Given the description of an element on the screen output the (x, y) to click on. 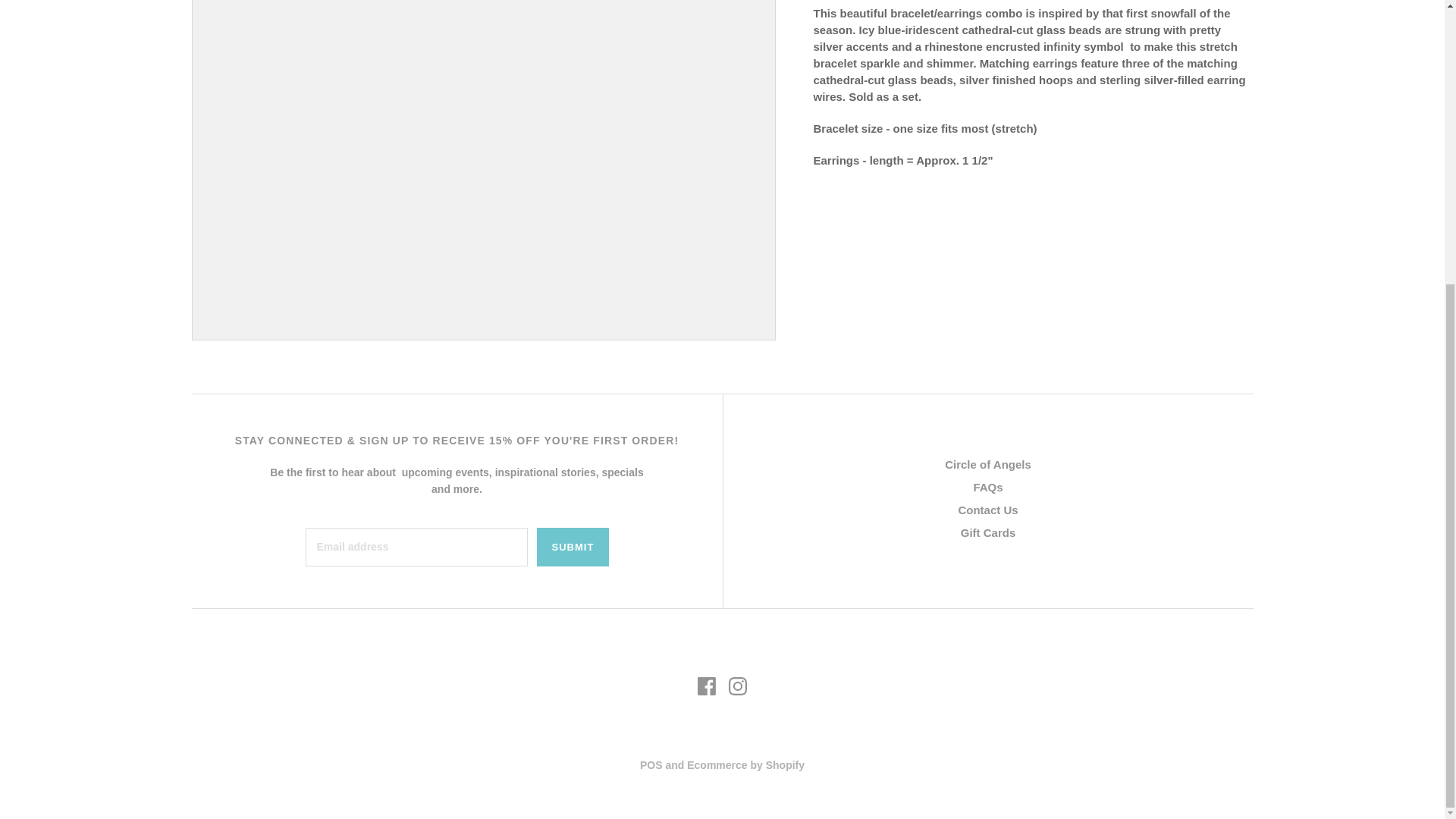
Submit (572, 546)
Instagram Icon (737, 686)
Facebook Icon (706, 686)
